Given the description of an element on the screen output the (x, y) to click on. 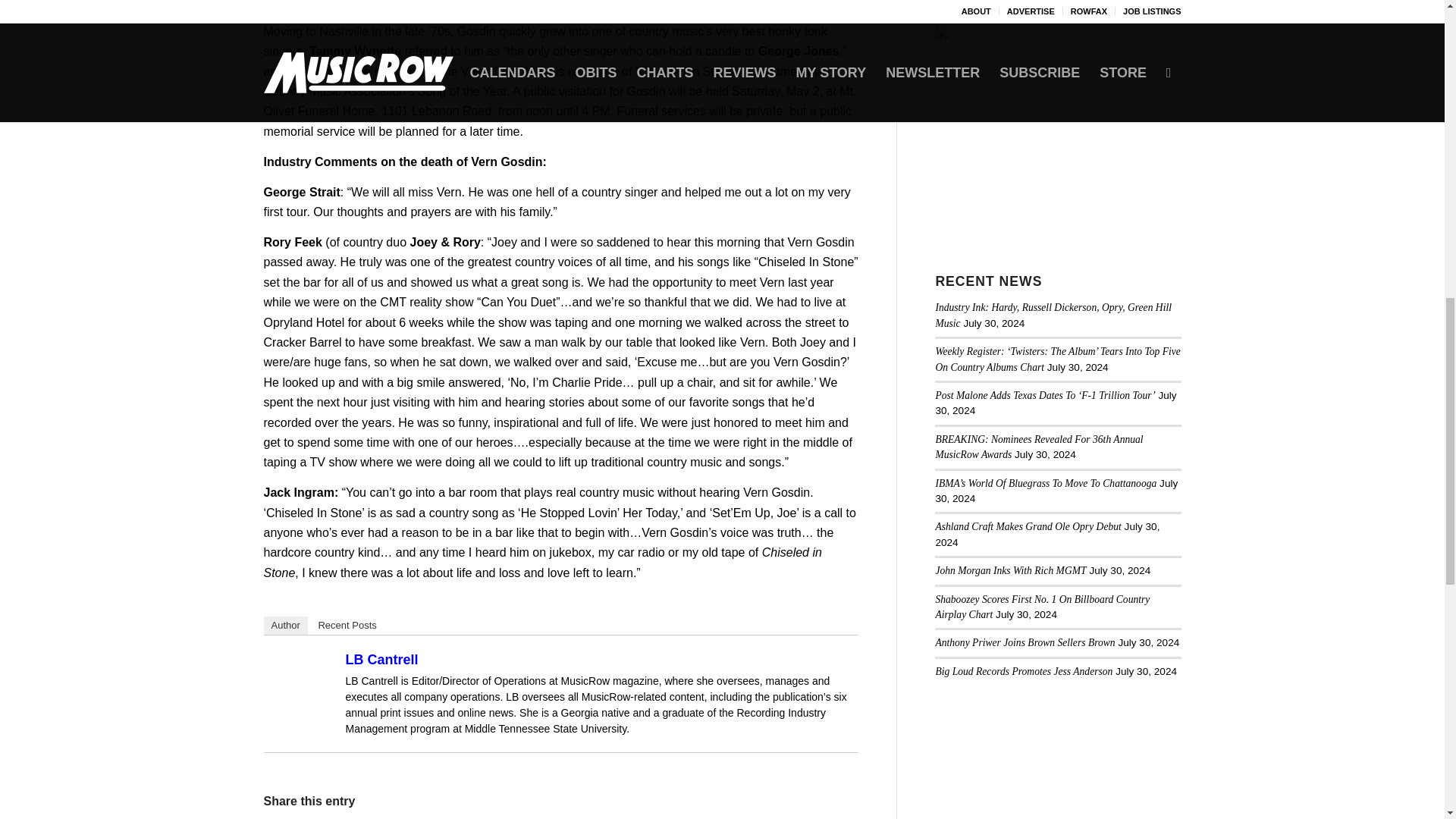
Author (285, 625)
Recent Posts (347, 625)
LB Cantrell (382, 659)
LB Cantrell (303, 667)
